Given the description of an element on the screen output the (x, y) to click on. 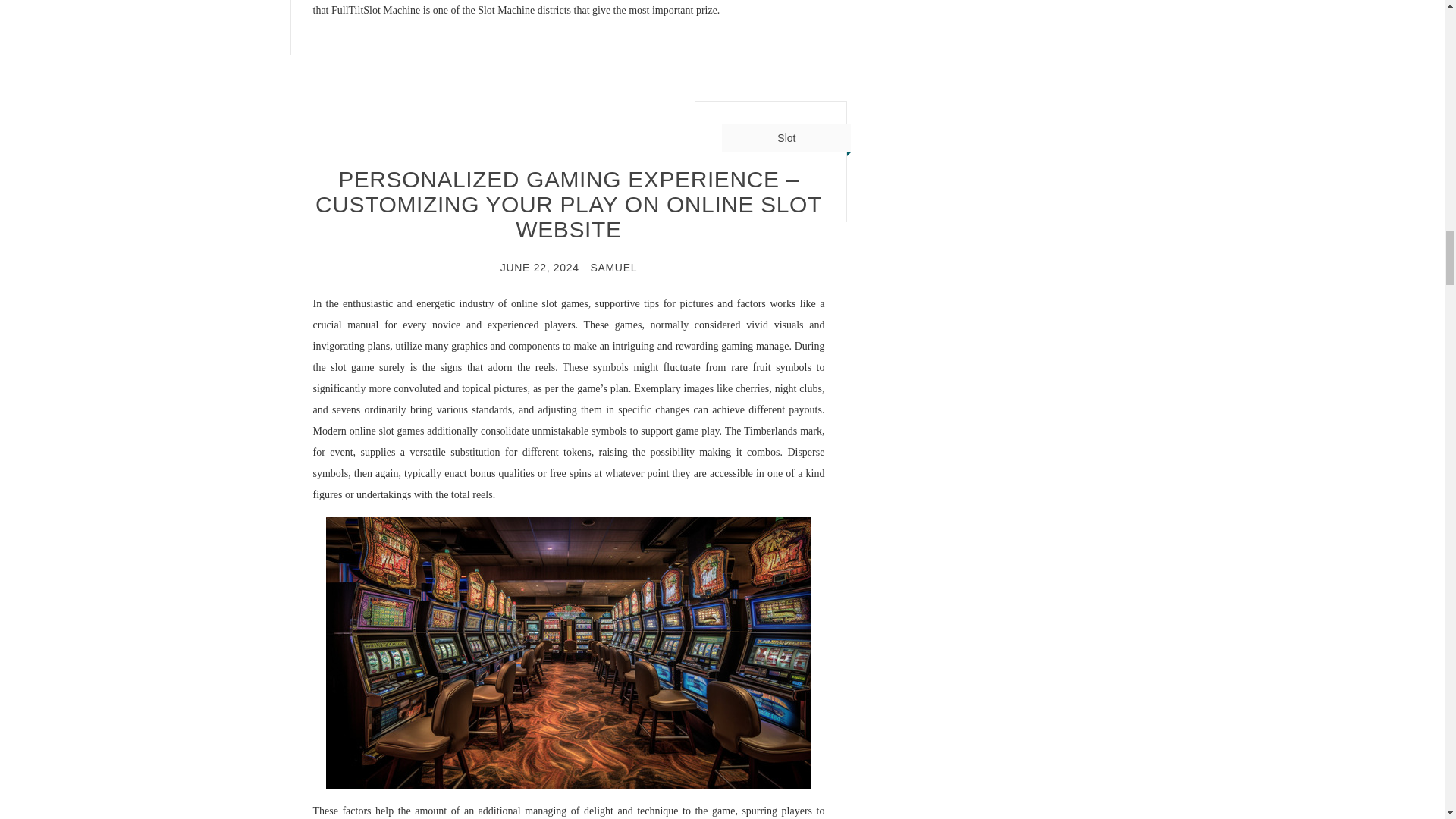
Slot (785, 137)
JUNE 22, 2024 (539, 267)
SAMUEL (613, 267)
